Given the description of an element on the screen output the (x, y) to click on. 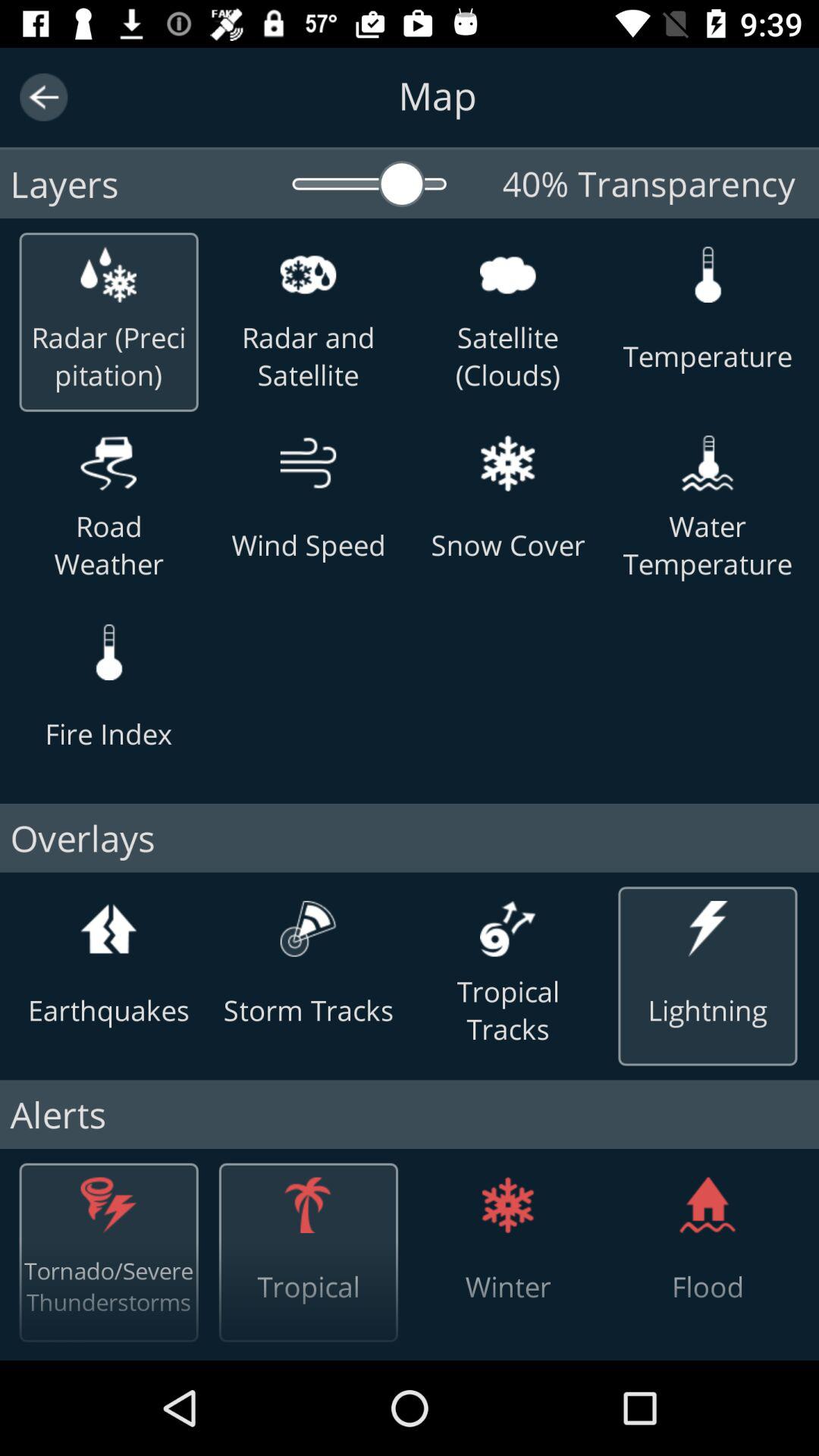
click on the temperature icon (707, 274)
